Given the description of an element on the screen output the (x, y) to click on. 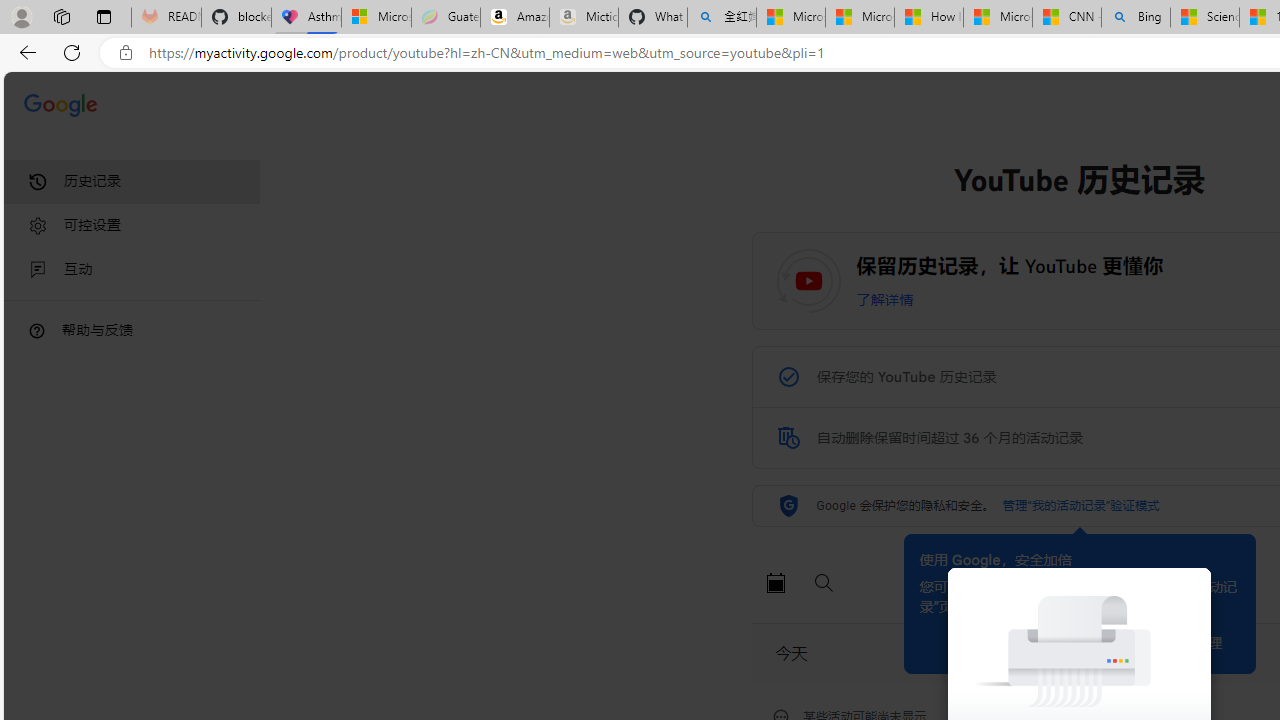
How I Got Rid of Microsoft Edge's Unnecessary Features (928, 17)
Asthma Inhalers: Names and Types (305, 17)
Bing (1135, 17)
Science - MSN (1205, 17)
